Given the description of an element on the screen output the (x, y) to click on. 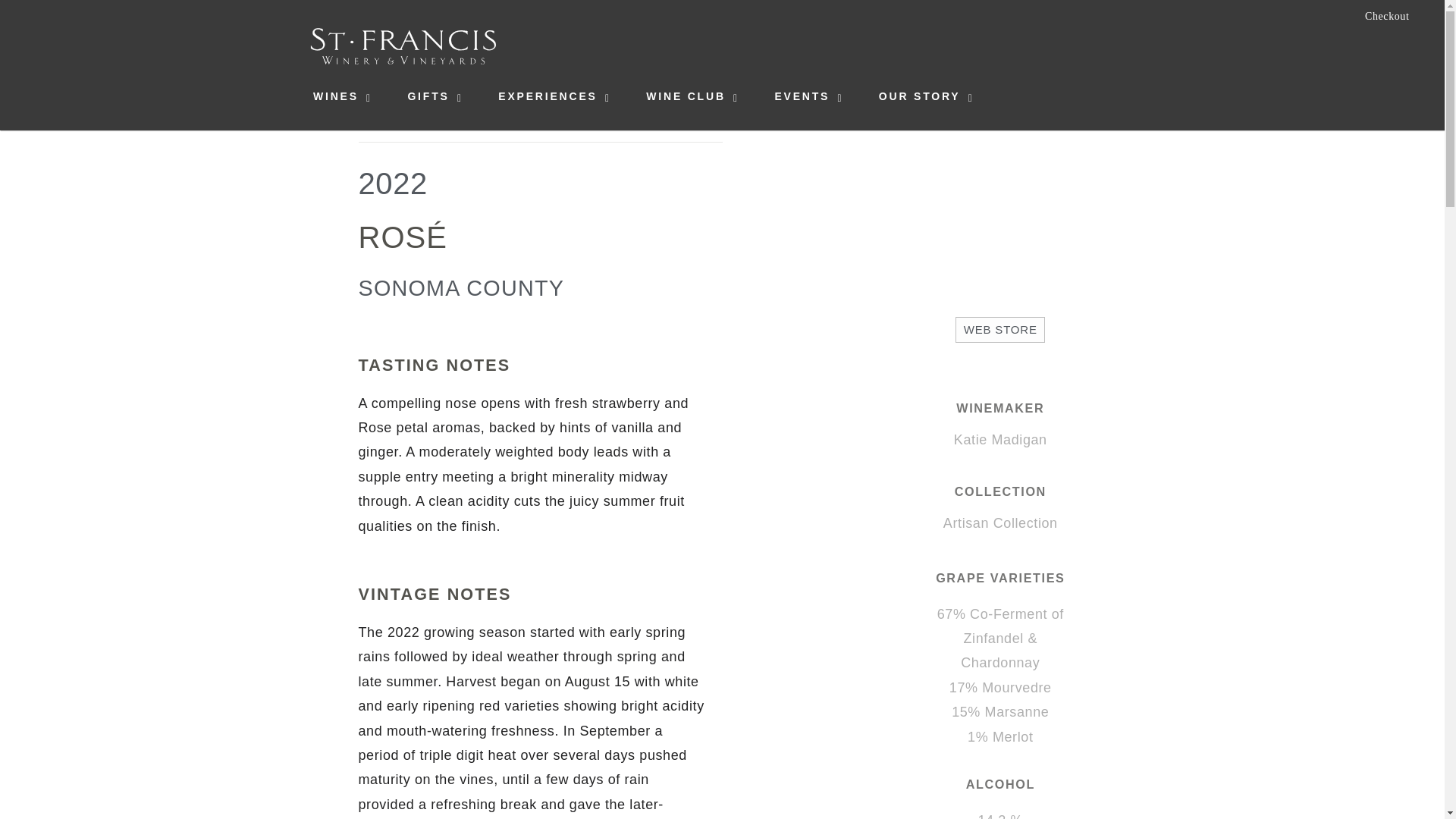
Learn about how we are sustainable. (1388, 47)
EXPERIENCES (546, 96)
Checkout (1387, 16)
Katie Madigan (999, 439)
WINES (335, 96)
GIFTS (427, 96)
Artisan Collection (1000, 522)
